Given the description of an element on the screen output the (x, y) to click on. 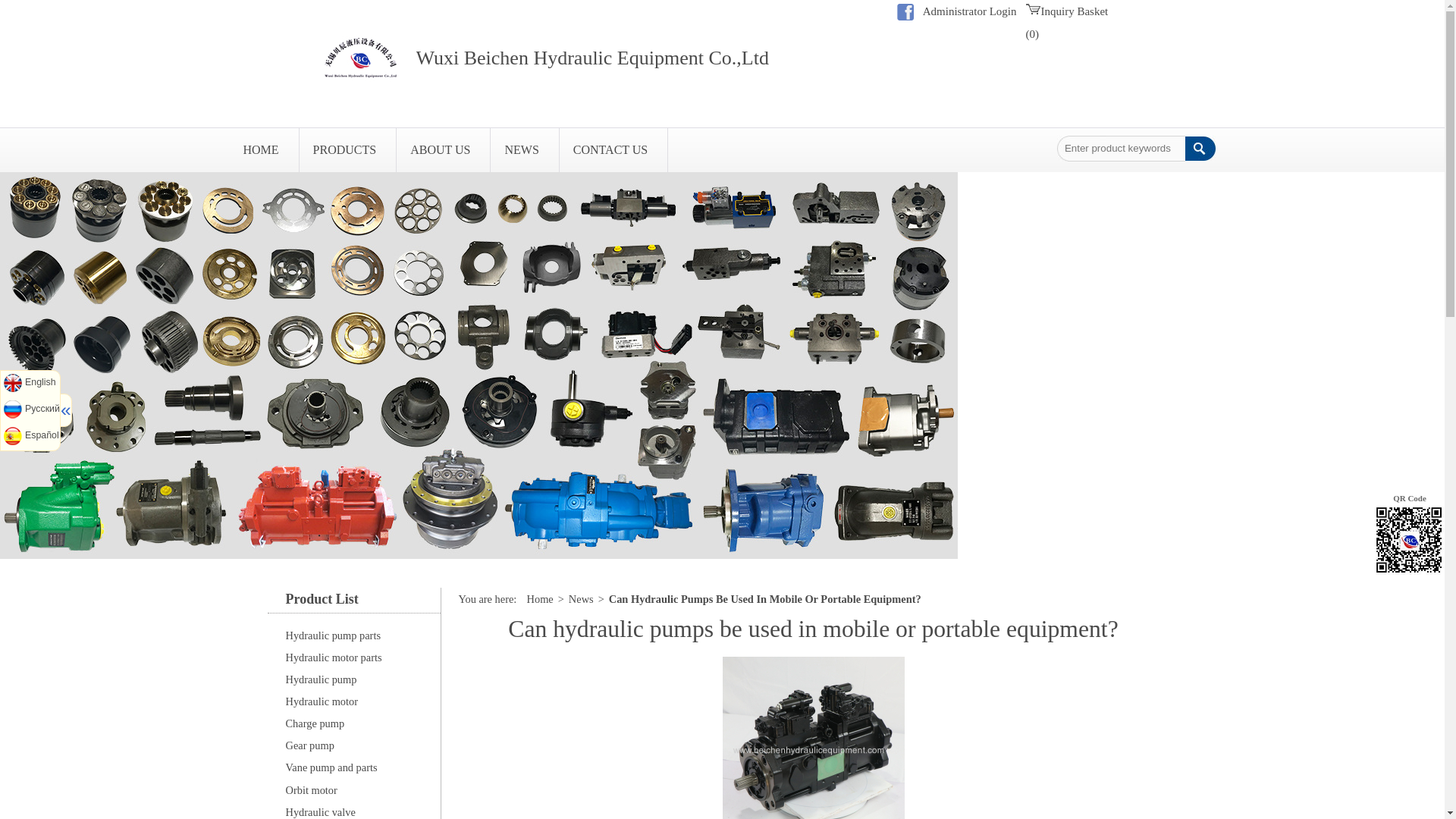
Hydraulic motor parts (352, 658)
Products (347, 149)
ABOUT US (443, 149)
Orbit motor (352, 790)
Hydraulic pump parts (352, 635)
Hydraulic motor parts (352, 658)
Administrator Login (969, 10)
CONTACT US (613, 149)
Hydraulic valve (352, 810)
Vane pump and parts (352, 767)
